Given the description of an element on the screen output the (x, y) to click on. 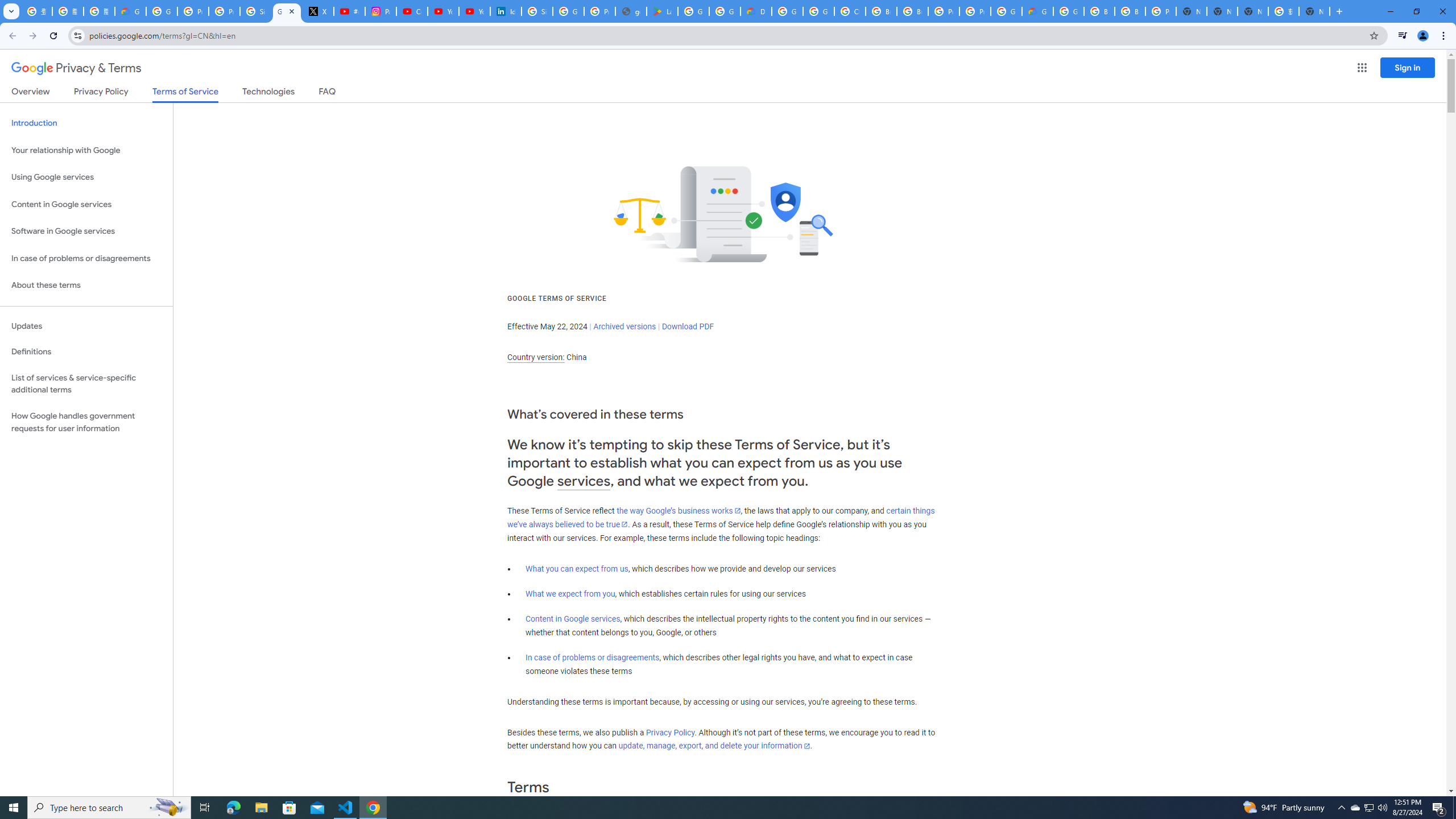
Archived versions (624, 326)
YouTube Culture & Trends - YouTube Top 10, 2021 (474, 11)
Google Cloud Estimate Summary (1037, 11)
Download PDF (687, 326)
Google Cloud Privacy Notice (130, 11)
#nbabasketballhighlights - YouTube (349, 11)
Content in Google services (572, 618)
What you can expect from us (576, 568)
